Given the description of an element on the screen output the (x, y) to click on. 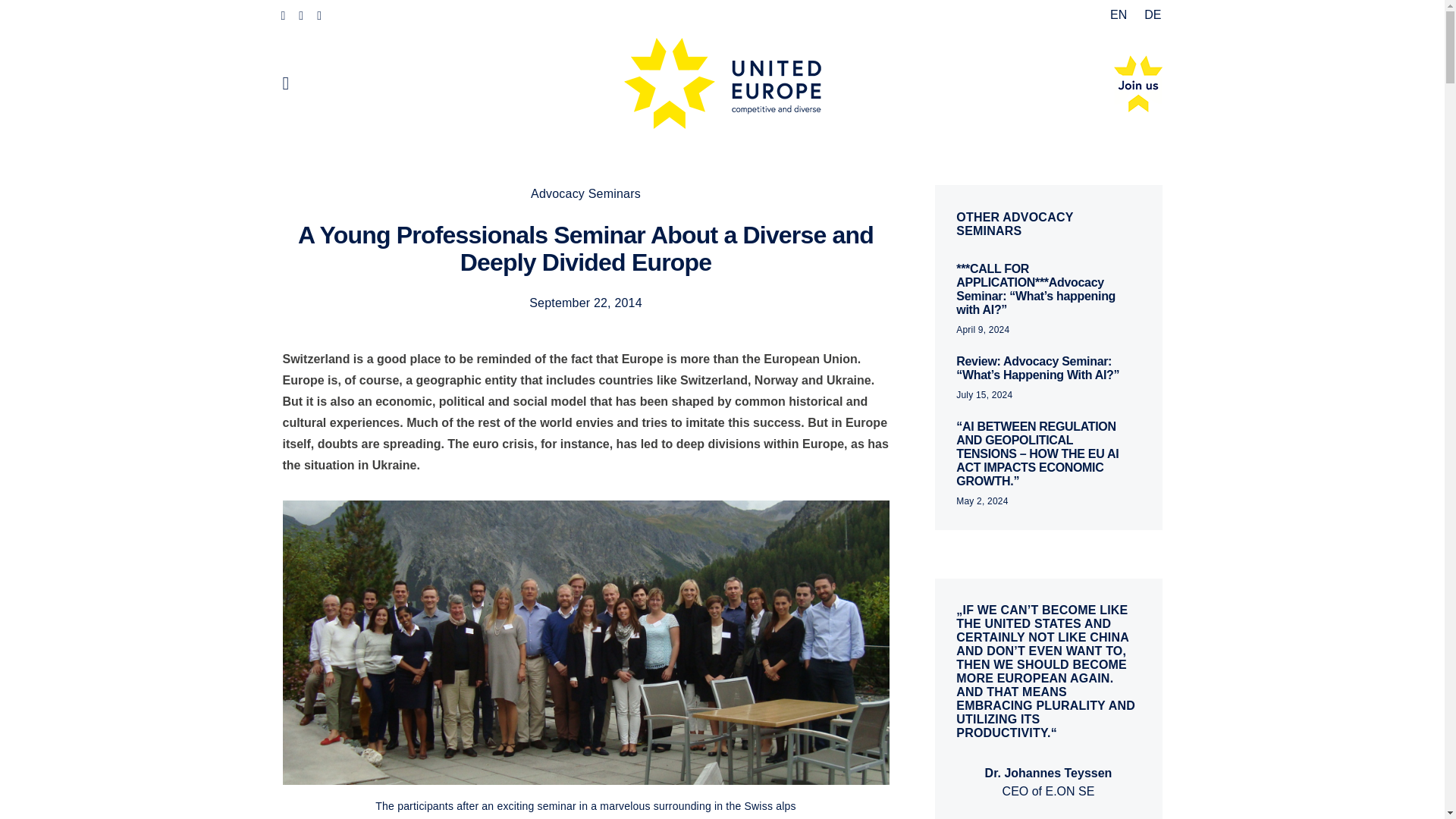
DE (1148, 14)
View all posts in Advocacy Seminars (585, 193)
EN (1118, 14)
